Given the description of an element on the screen output the (x, y) to click on. 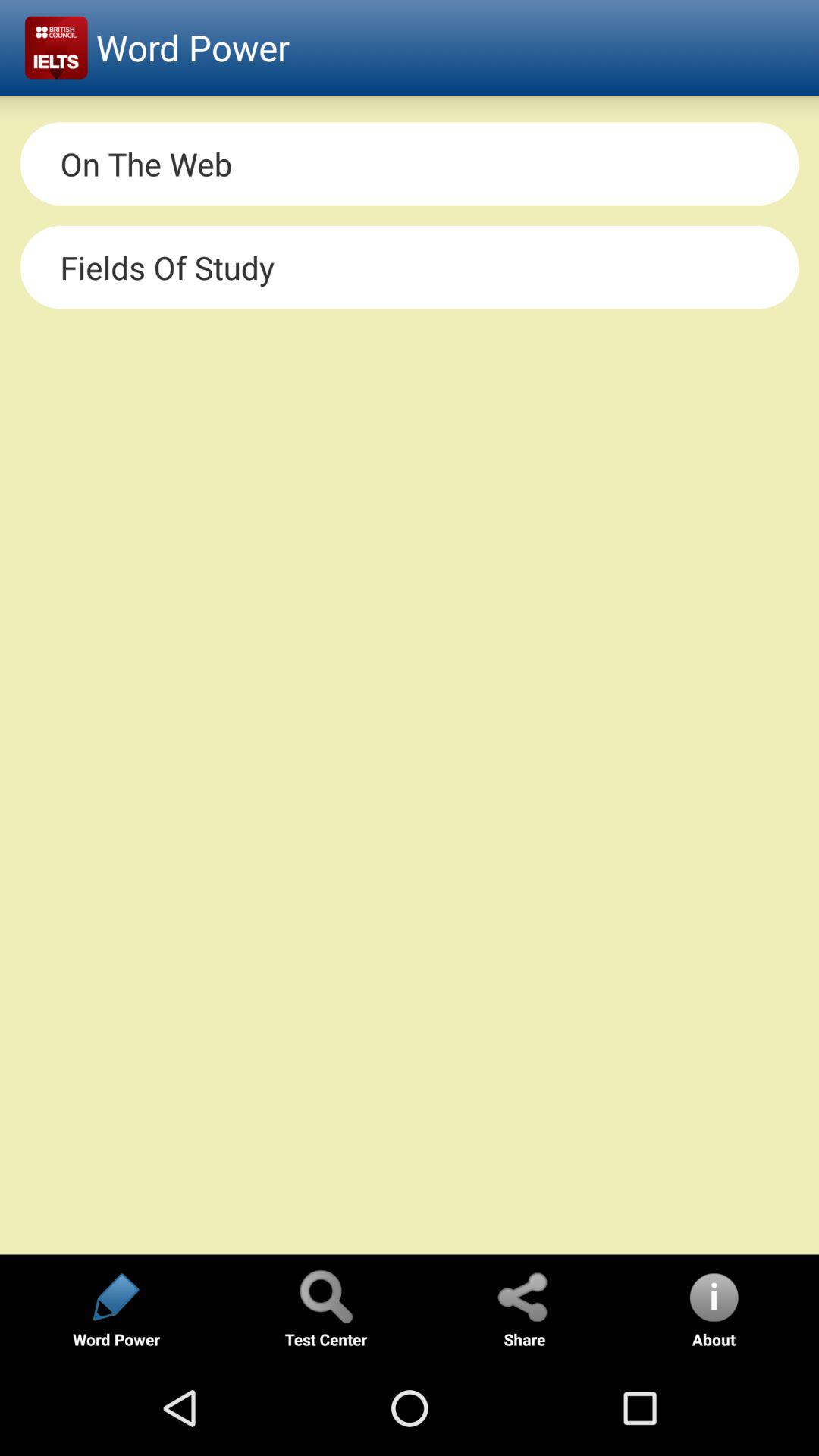
turn off fields of study icon (409, 266)
